Given the description of an element on the screen output the (x, y) to click on. 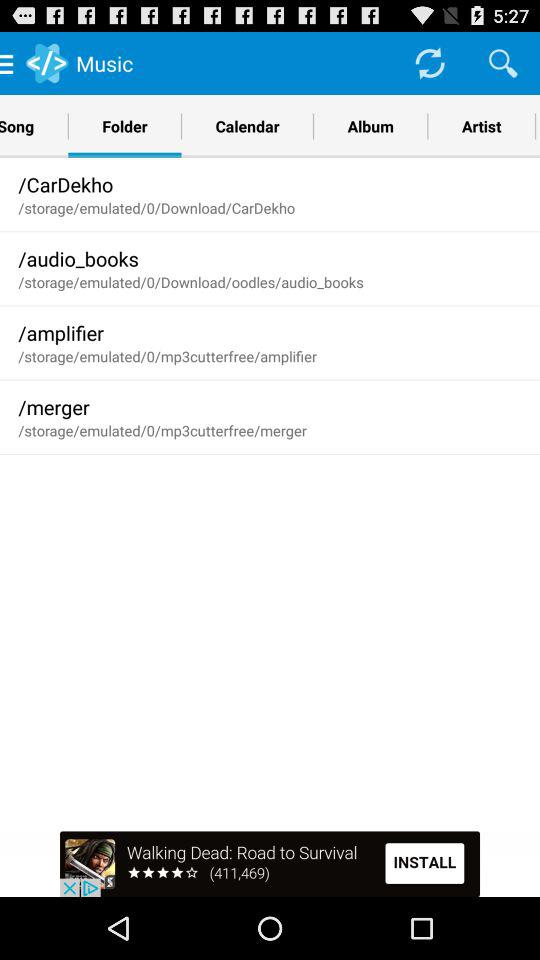
advertisement display (270, 864)
